Given the description of an element on the screen output the (x, y) to click on. 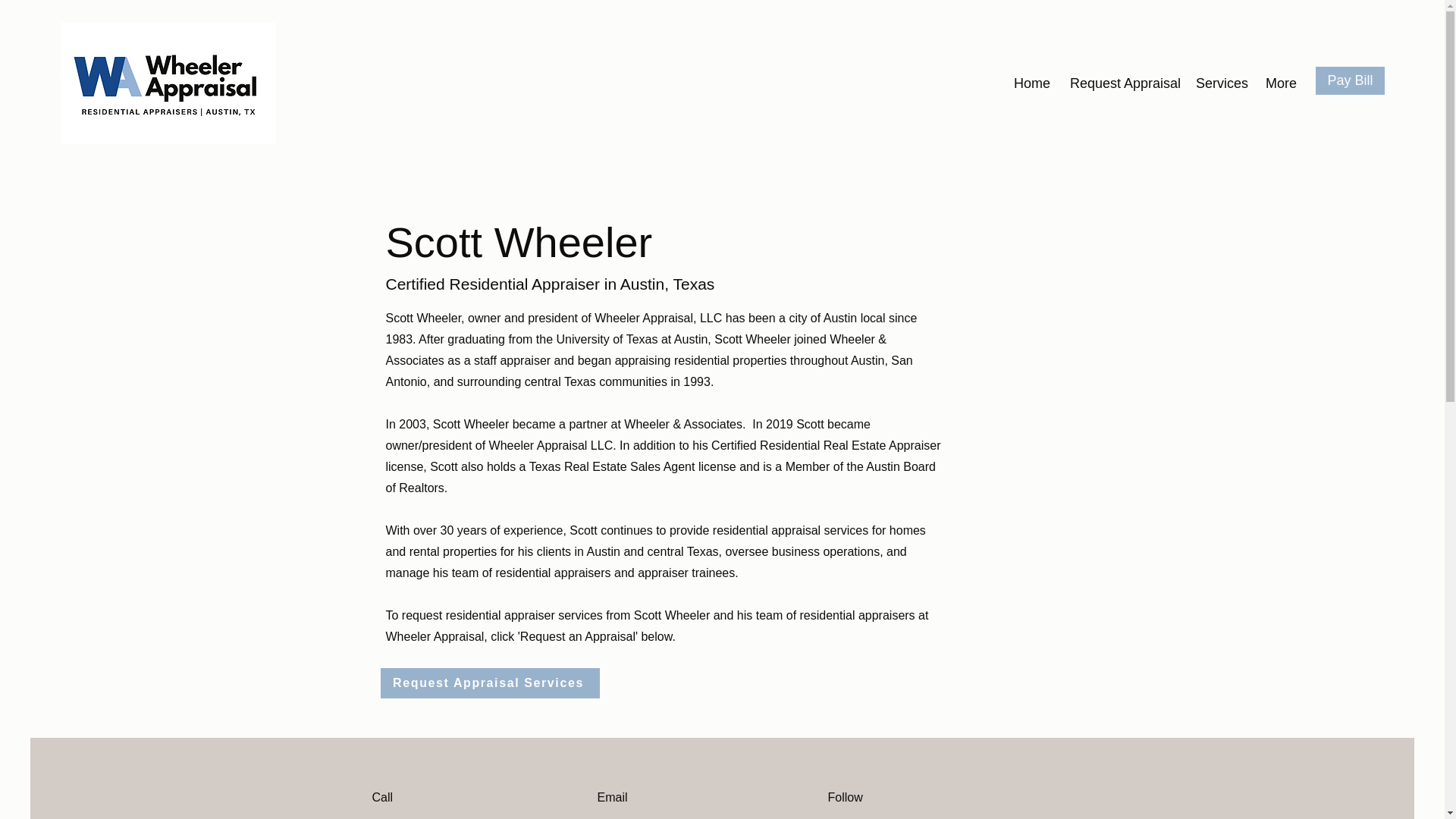
Wheeler Appraisal LLC. (552, 445)
Scott Wheeler (518, 242)
Scott Wheeler (752, 338)
Home (1031, 83)
Pay Bill (1350, 80)
Wheeler Appraisal, LLC (658, 318)
team of residential appraisers (531, 572)
Request Appraisal (1123, 83)
Scott Wheeler (423, 318)
Certified Residential Appraiser in Austin, Texas (549, 283)
